Given the description of an element on the screen output the (x, y) to click on. 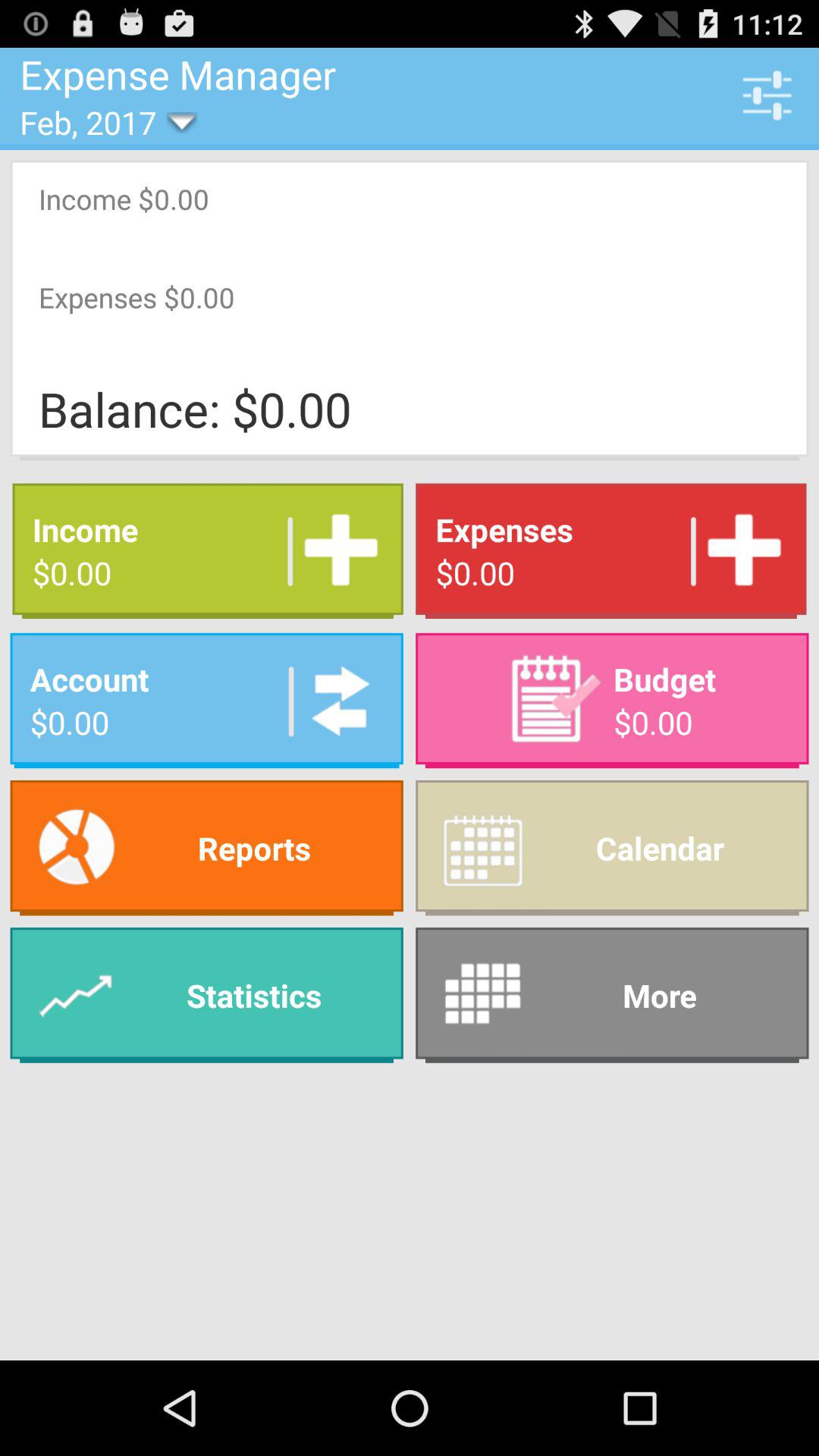
turn off app to the right of expense manager (767, 95)
